Given the description of an element on the screen output the (x, y) to click on. 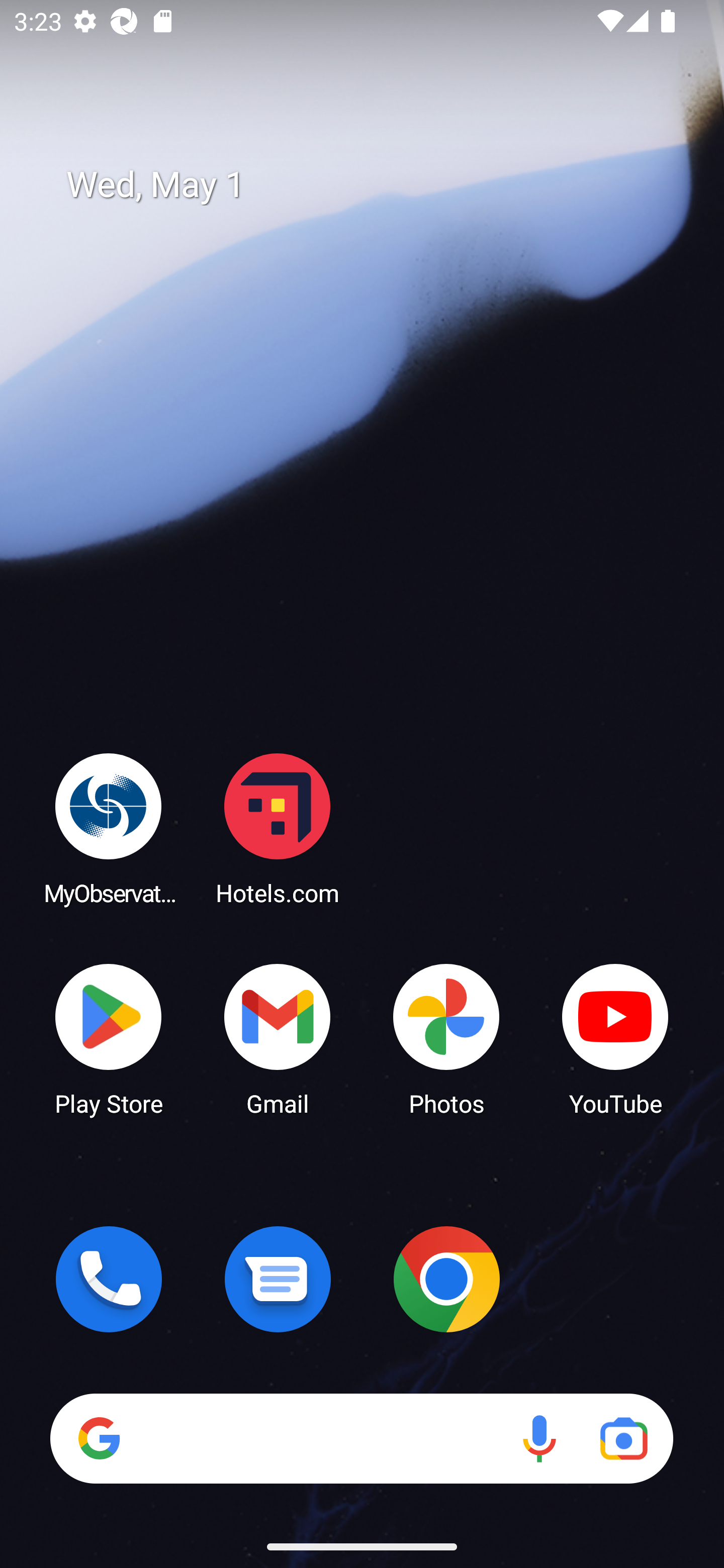
Wed, May 1 (375, 184)
MyObservatory (108, 828)
Hotels.com (277, 828)
Play Store (108, 1038)
Gmail (277, 1038)
Photos (445, 1038)
YouTube (615, 1038)
Phone (108, 1279)
Messages (277, 1279)
Chrome (446, 1279)
Search Voice search Google Lens (361, 1438)
Voice search (539, 1438)
Google Lens (623, 1438)
